Given the description of an element on the screen output the (x, y) to click on. 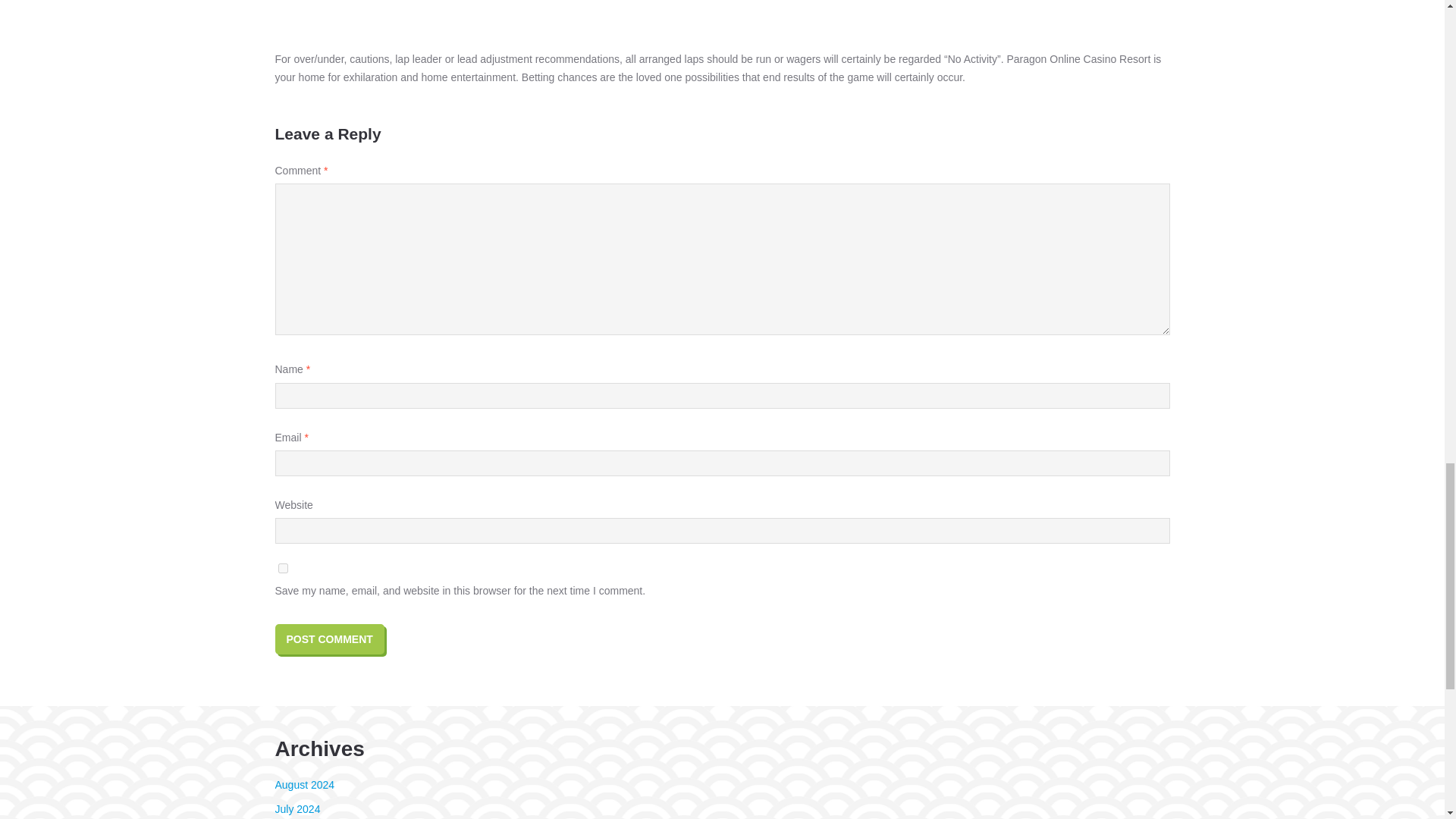
July 2024 (297, 808)
yes (282, 568)
Post Comment (329, 639)
August 2024 (304, 784)
Post Comment (329, 639)
